Given the description of an element on the screen output the (x, y) to click on. 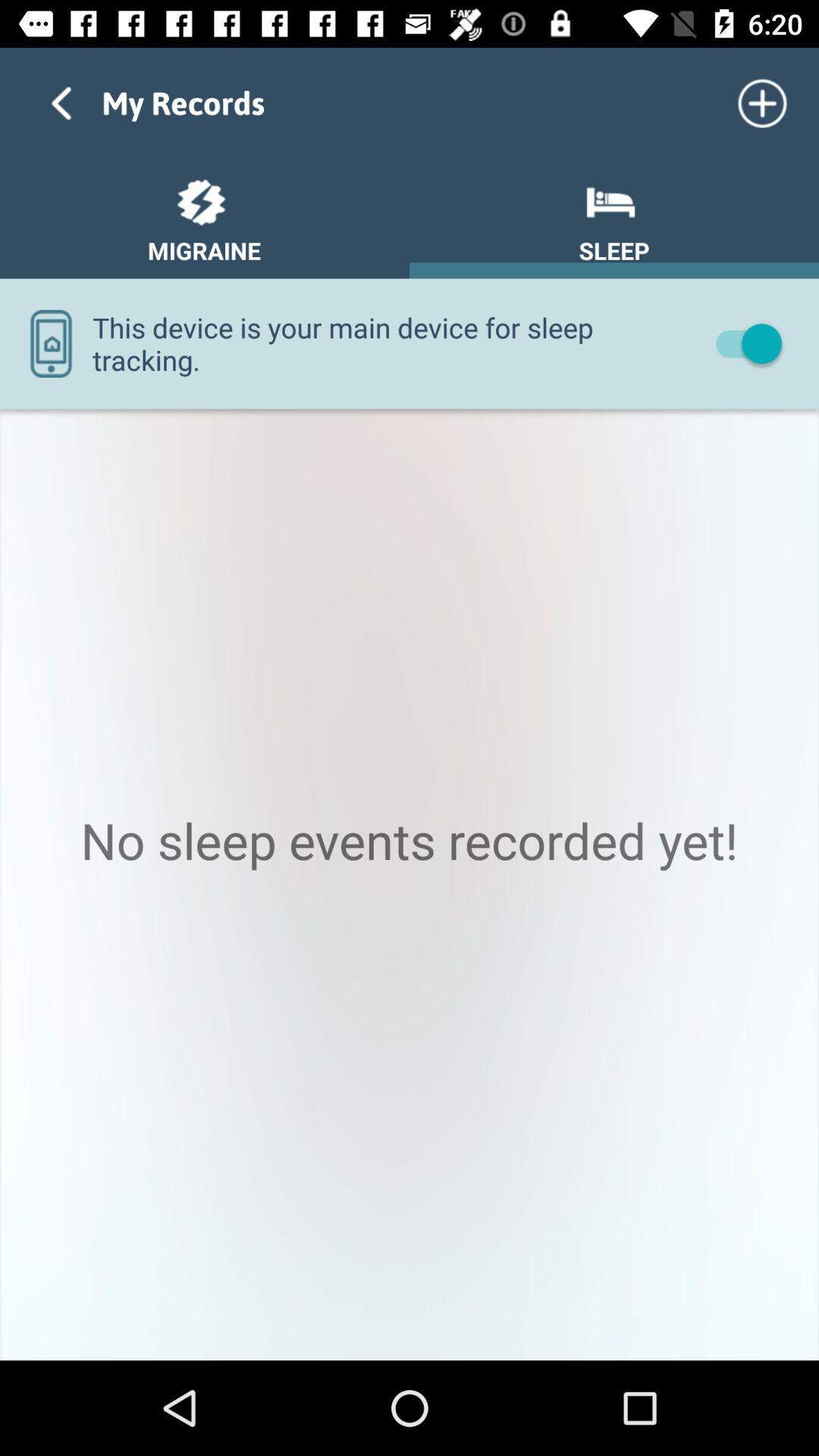
toggle off (741, 343)
